Given the description of an element on the screen output the (x, y) to click on. 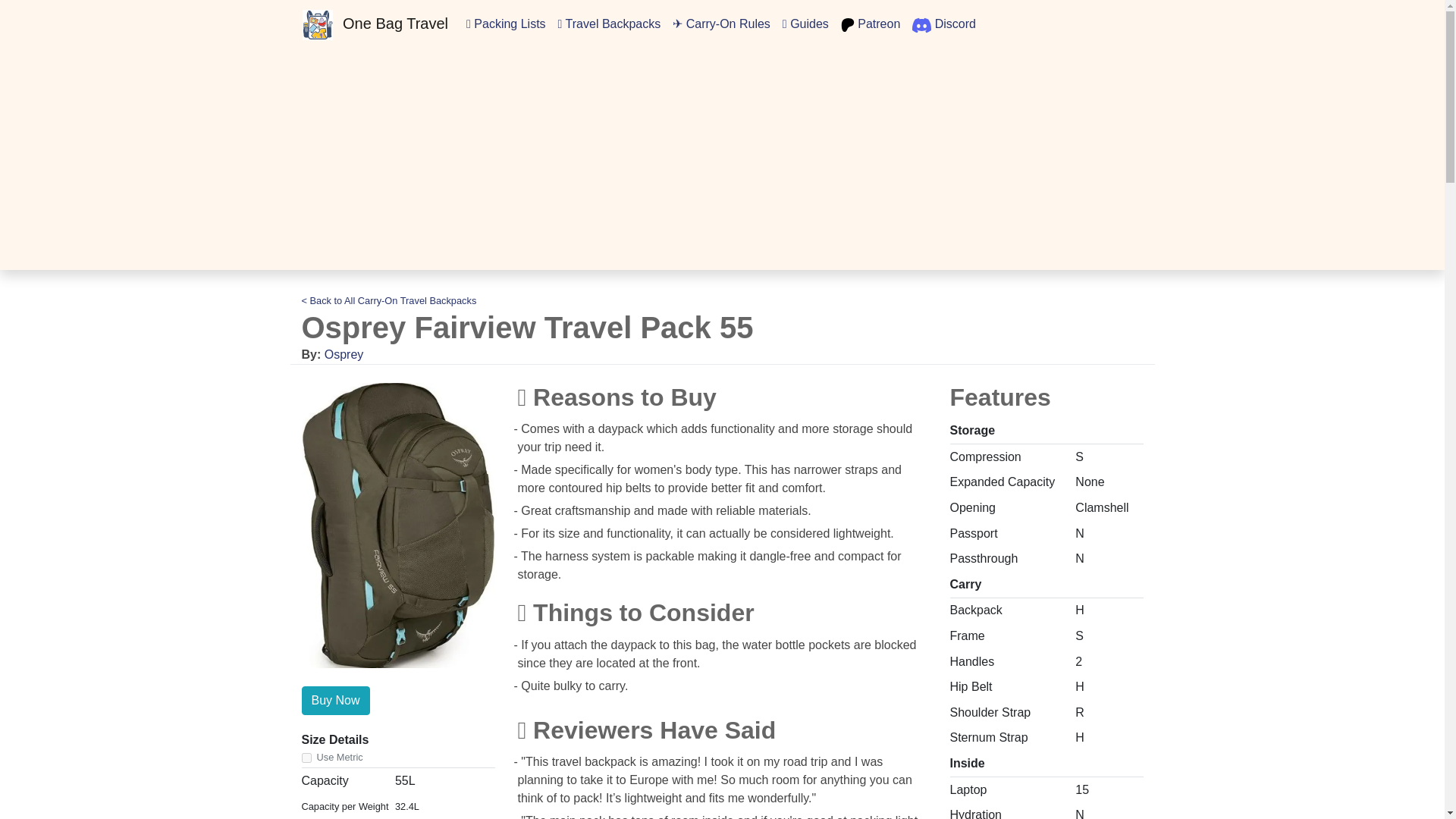
Discord (943, 24)
If this carry-on expands, how much does it expand by? (1001, 482)
Patreon (869, 24)
How many handles does this carry-on travel backpack have? (971, 661)
Buy Now (335, 700)
Osprey (344, 354)
One Bag Travel (374, 24)
